Given the description of an element on the screen output the (x, y) to click on. 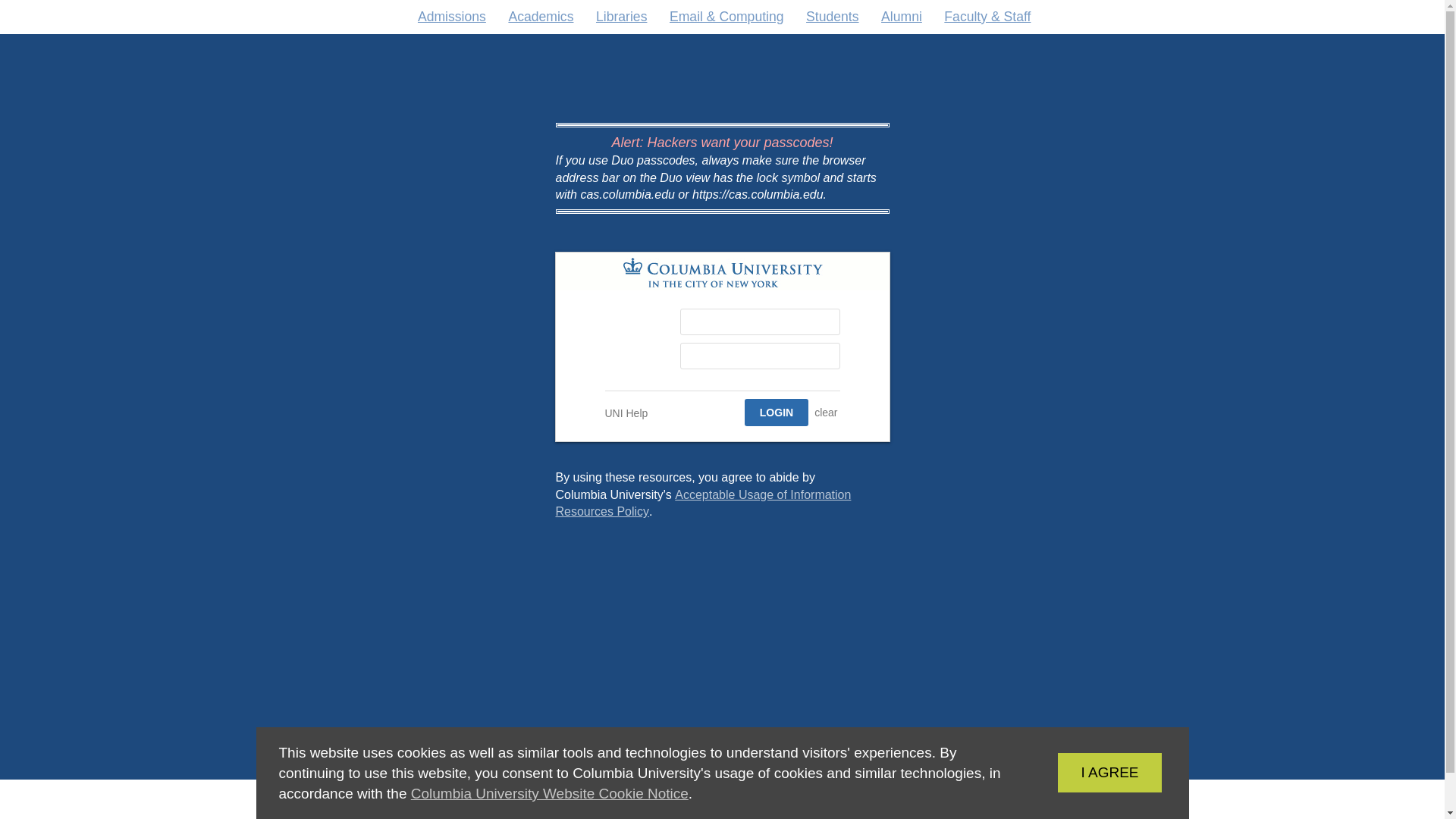
CUIT Service Desk (1086, 772)
Admissions (770, 798)
Columbia University Website Cookie Notice (451, 16)
UNI Help (549, 793)
Libraries (626, 413)
CLEAR (620, 16)
Acceptable Usage of Information Resources Policy (826, 412)
Students (702, 502)
LOGIN (832, 16)
